Given the description of an element on the screen output the (x, y) to click on. 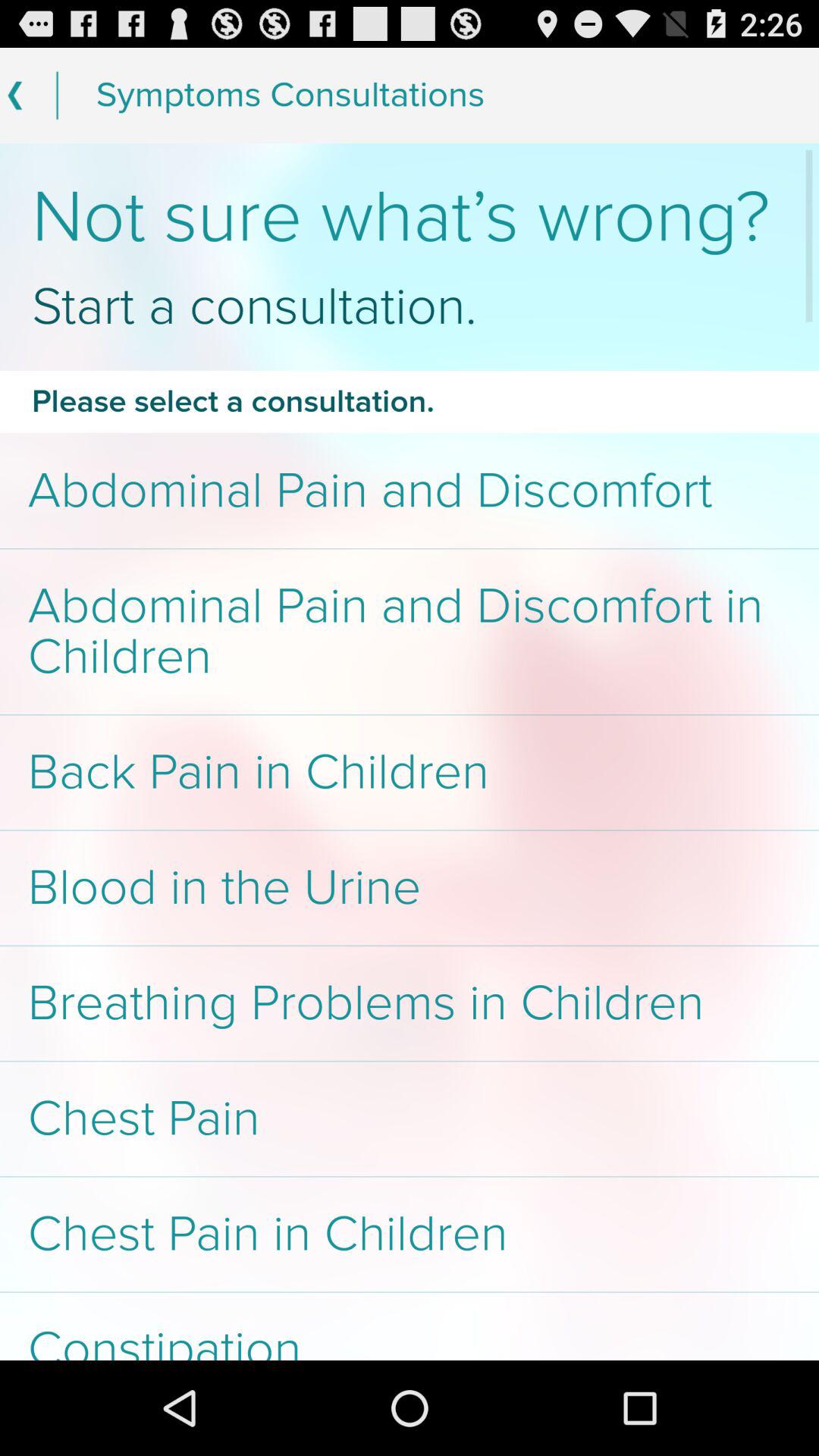
jump to breathing problems in icon (409, 1003)
